Given the description of an element on the screen output the (x, y) to click on. 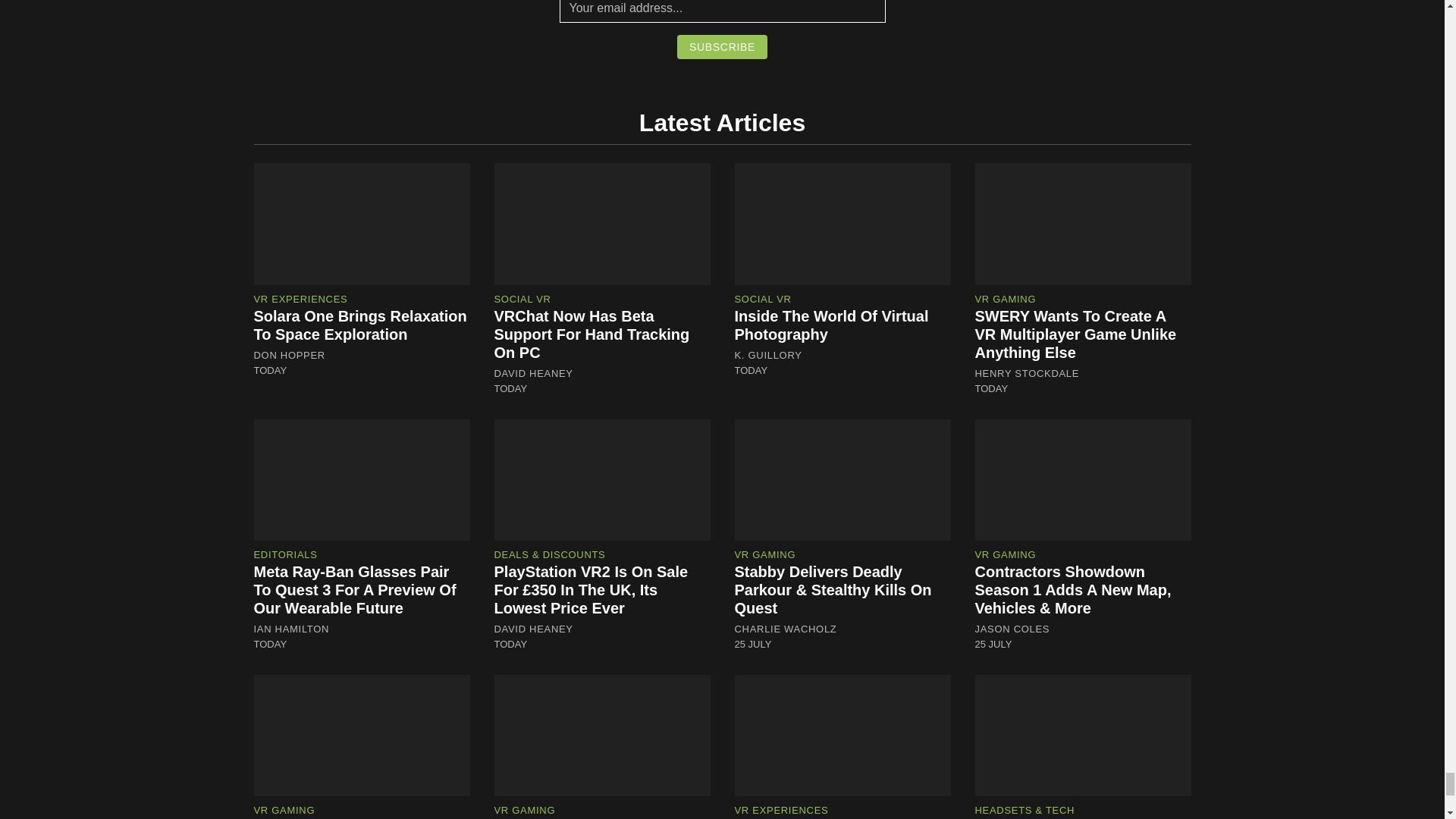
Solara One Brings Relaxation To Space Exploration (359, 325)
Latest Articles (722, 122)
SOCIAL VR (523, 298)
Subscribe (722, 46)
DON HOPPER (288, 355)
VR EXPERIENCES (300, 298)
DAVID HEANEY (534, 373)
Subscribe (722, 46)
VRChat Now Has Beta Support For Hand Tracking On PC (592, 334)
